Given the description of an element on the screen output the (x, y) to click on. 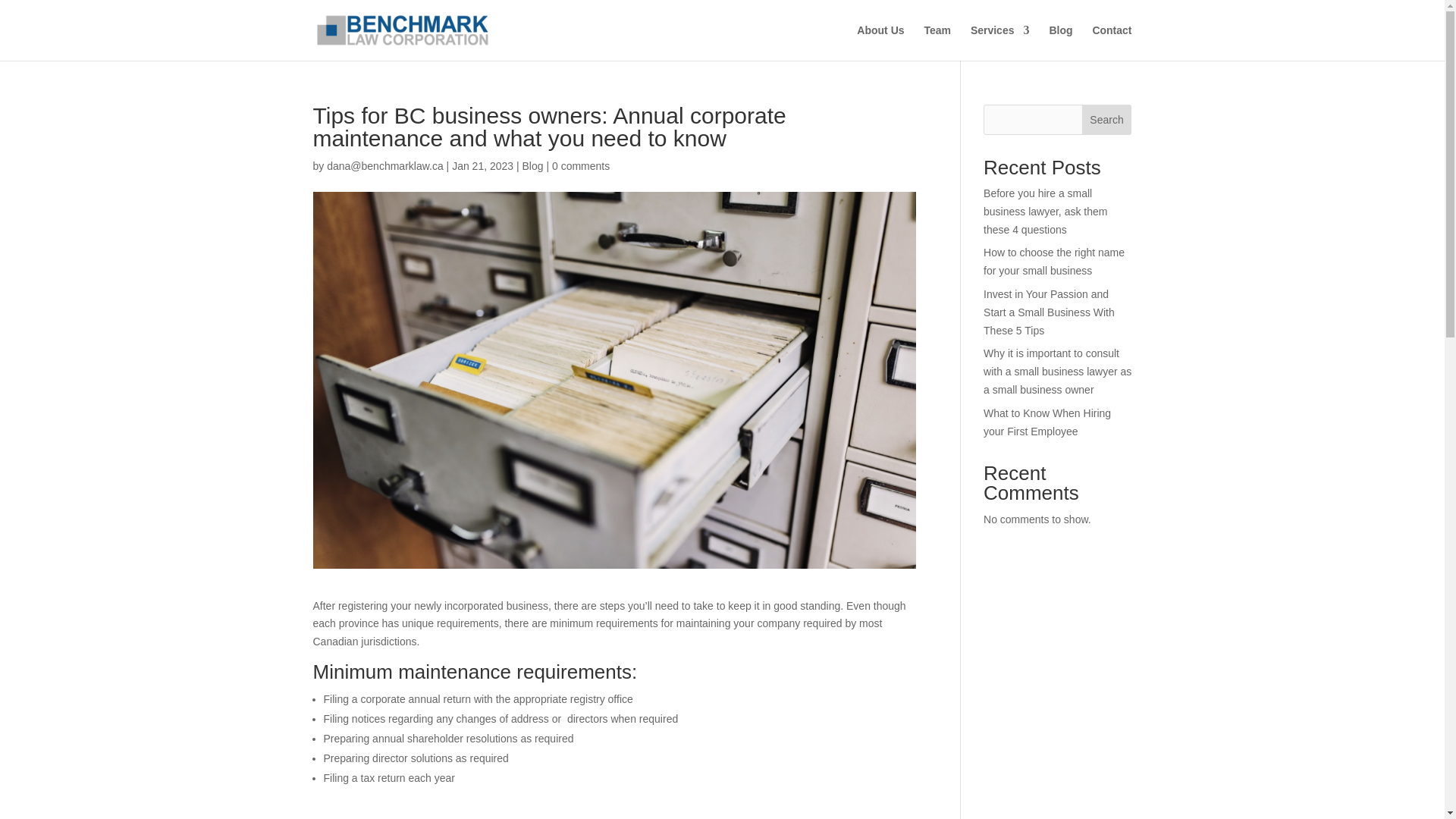
About Us (880, 42)
Contact (1111, 42)
How to choose the right name for your small business (1054, 261)
Services (1000, 42)
Search (1106, 119)
0 comments (580, 165)
What to Know When Hiring your First Employee (1047, 422)
